Given the description of an element on the screen output the (x, y) to click on. 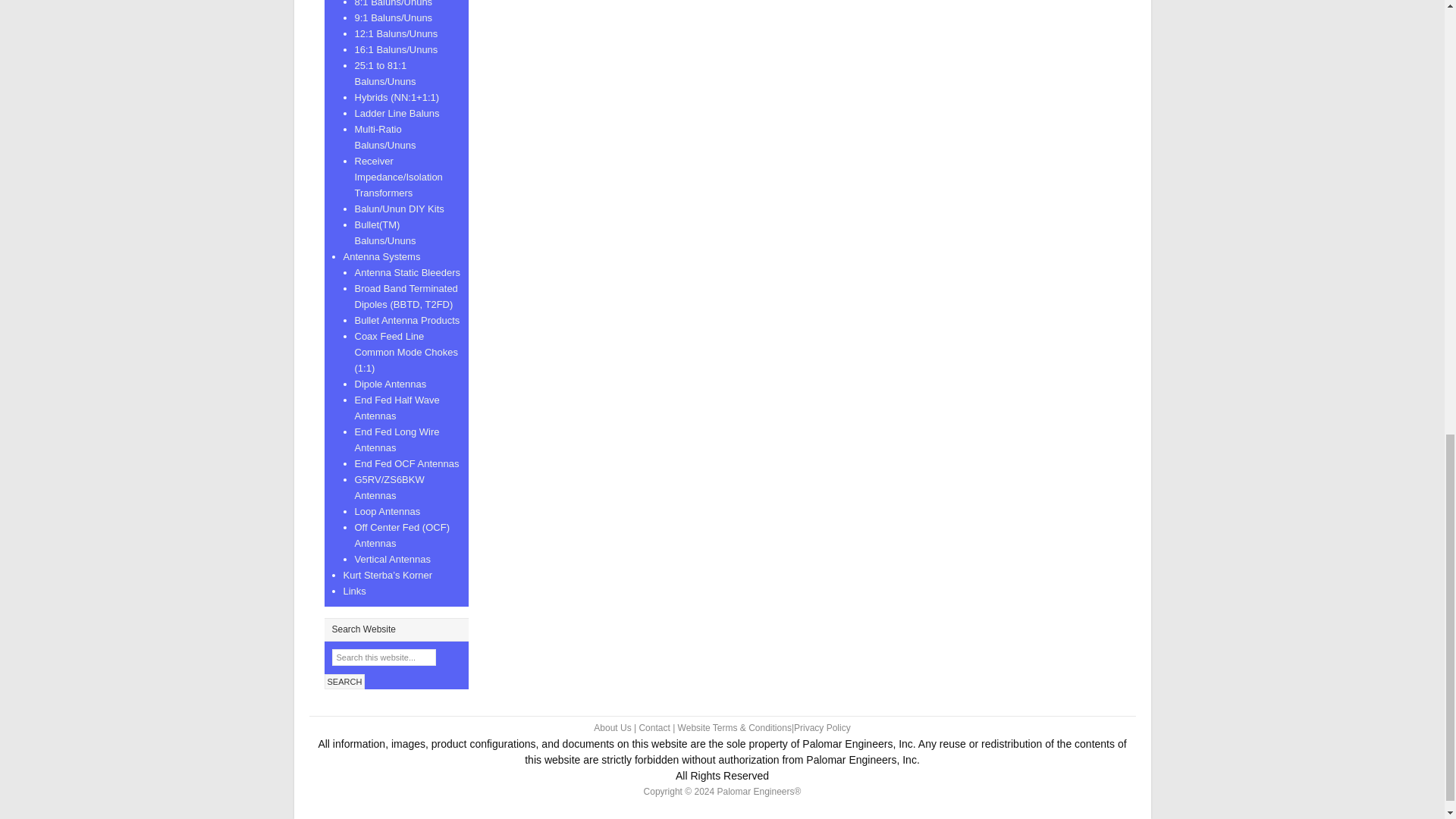
SEARCH (344, 681)
Search this website... (383, 657)
SEARCH (344, 681)
